Given the description of an element on the screen output the (x, y) to click on. 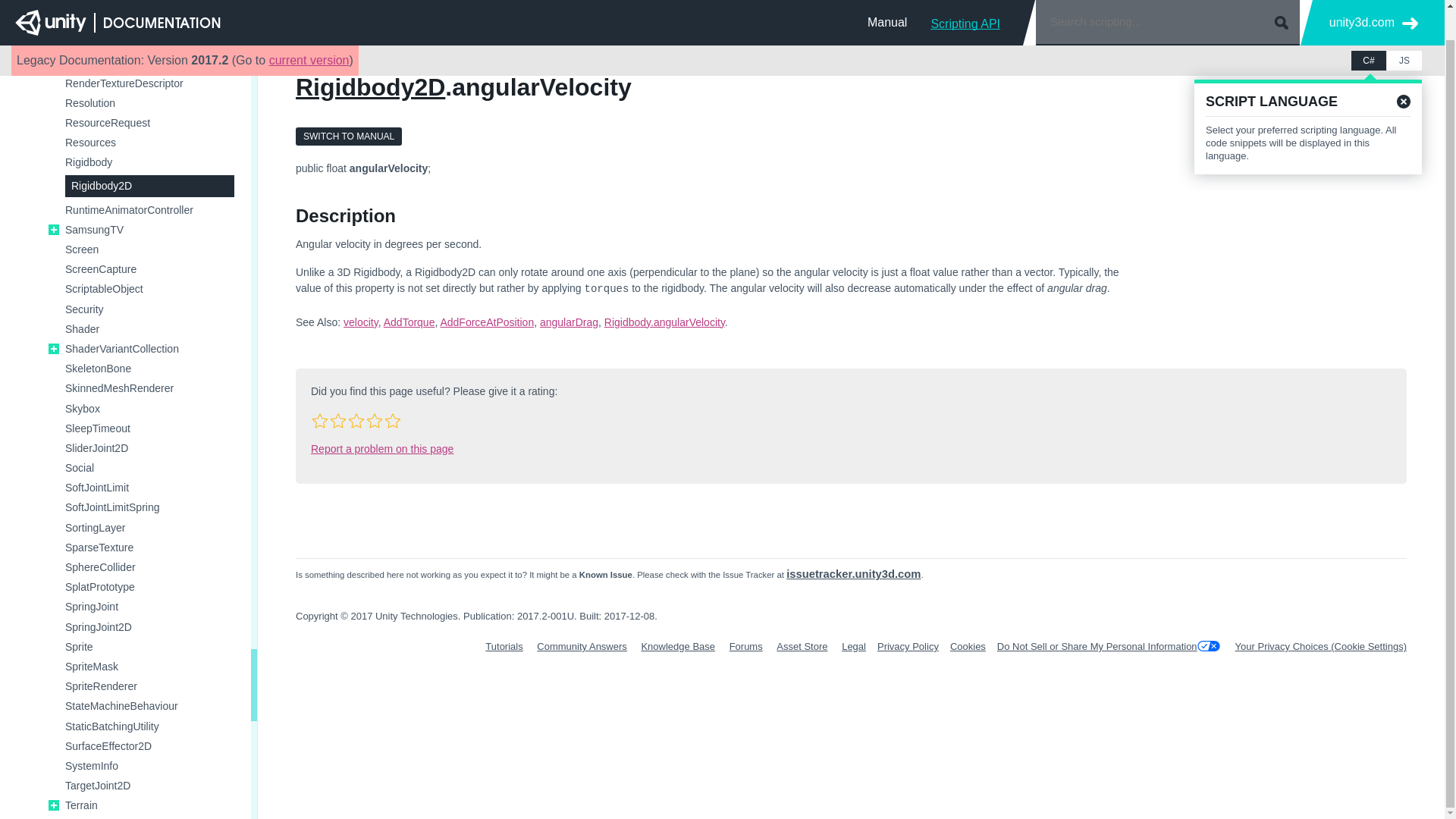
Leave feedback (1238, 111)
current version (309, 29)
Manual (887, 3)
unity3d.com (1373, 1)
Scripting API (965, 3)
Go to Rigidbody2D Component in the Manual (348, 136)
